Given the description of an element on the screen output the (x, y) to click on. 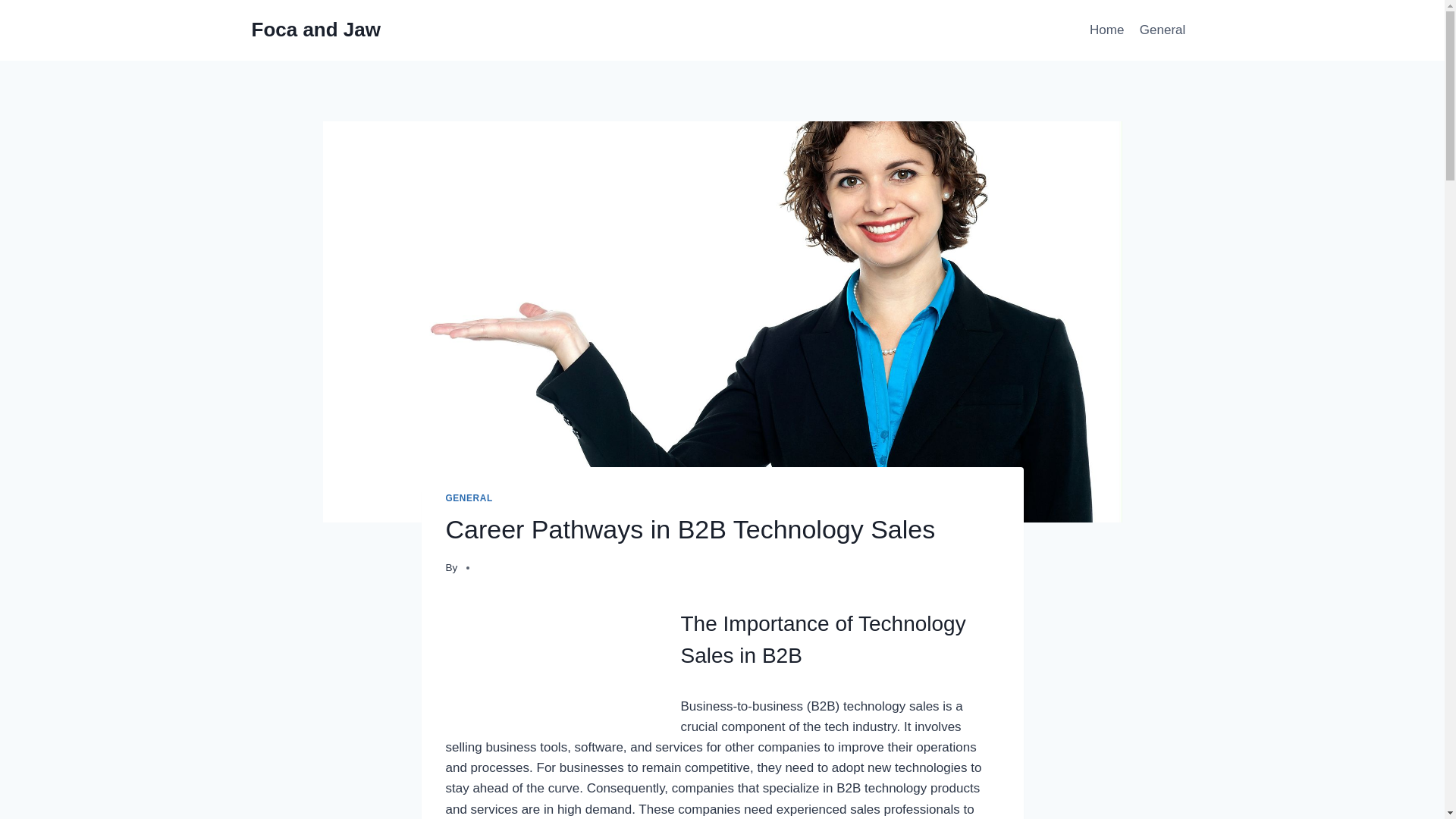
Foca and Jaw (316, 29)
Home (1106, 30)
GENERAL (469, 498)
General (1162, 30)
